Given the description of an element on the screen output the (x, y) to click on. 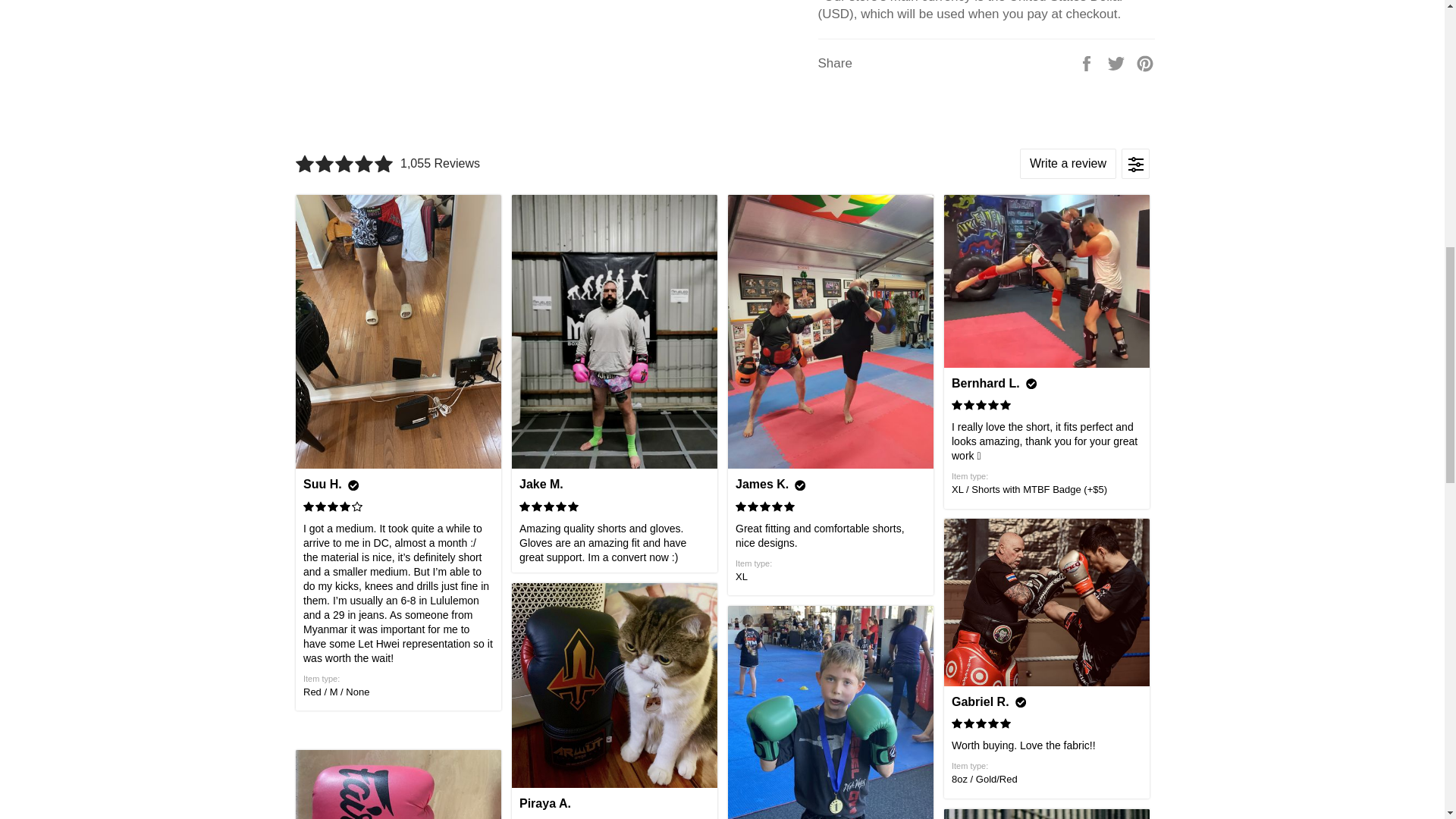
Pin on Pinterest (1144, 63)
Share on Facebook (1088, 63)
Tweet on Twitter (1117, 63)
